Given the description of an element on the screen output the (x, y) to click on. 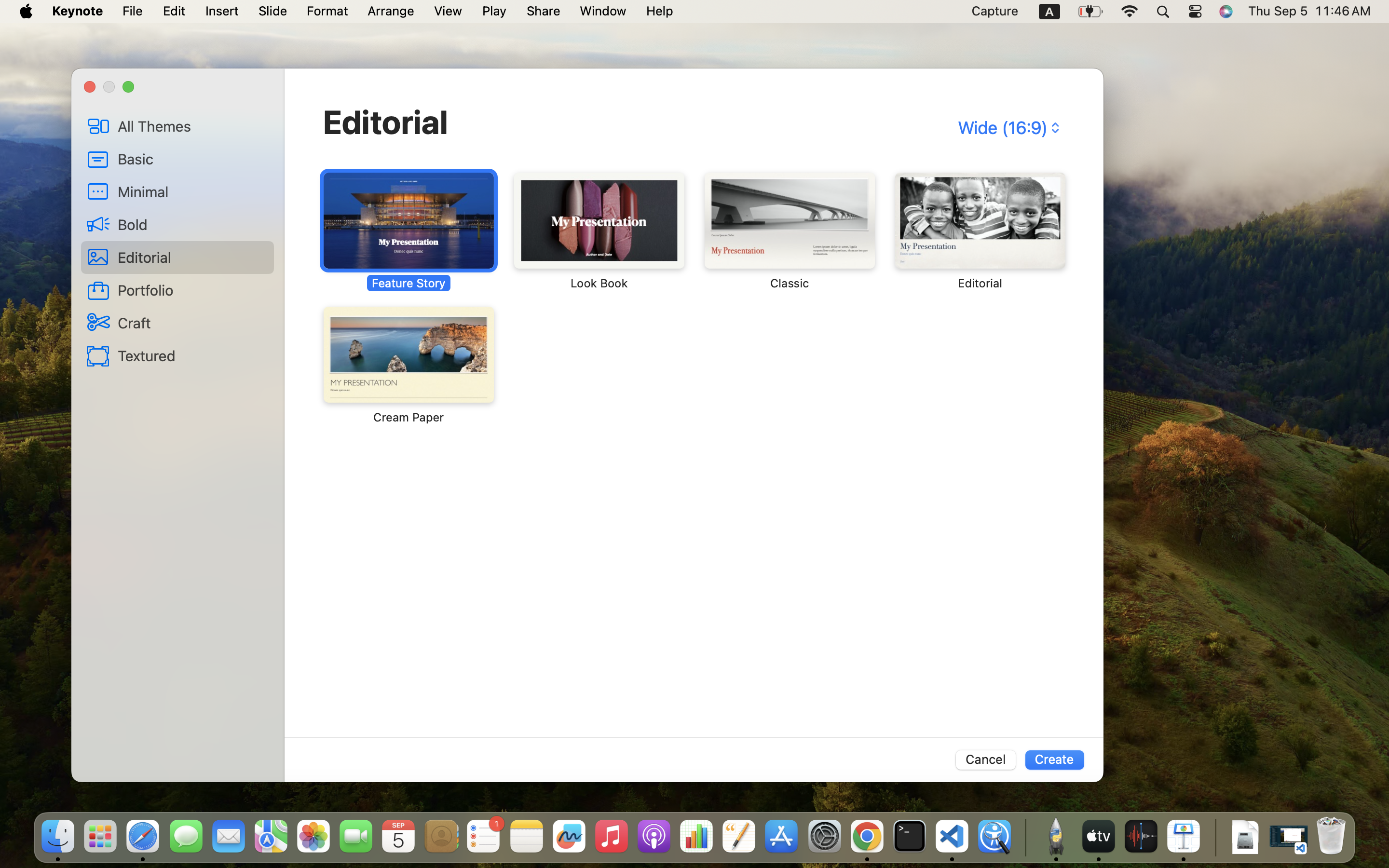
Minimal Element type: AXStaticText (191, 191)
Textured Element type: AXStaticText (191, 355)
Bold Element type: AXStaticText (191, 224)
‎⁨Cream Paper⁩ Element type: AXButton (408, 365)
